Given the description of an element on the screen output the (x, y) to click on. 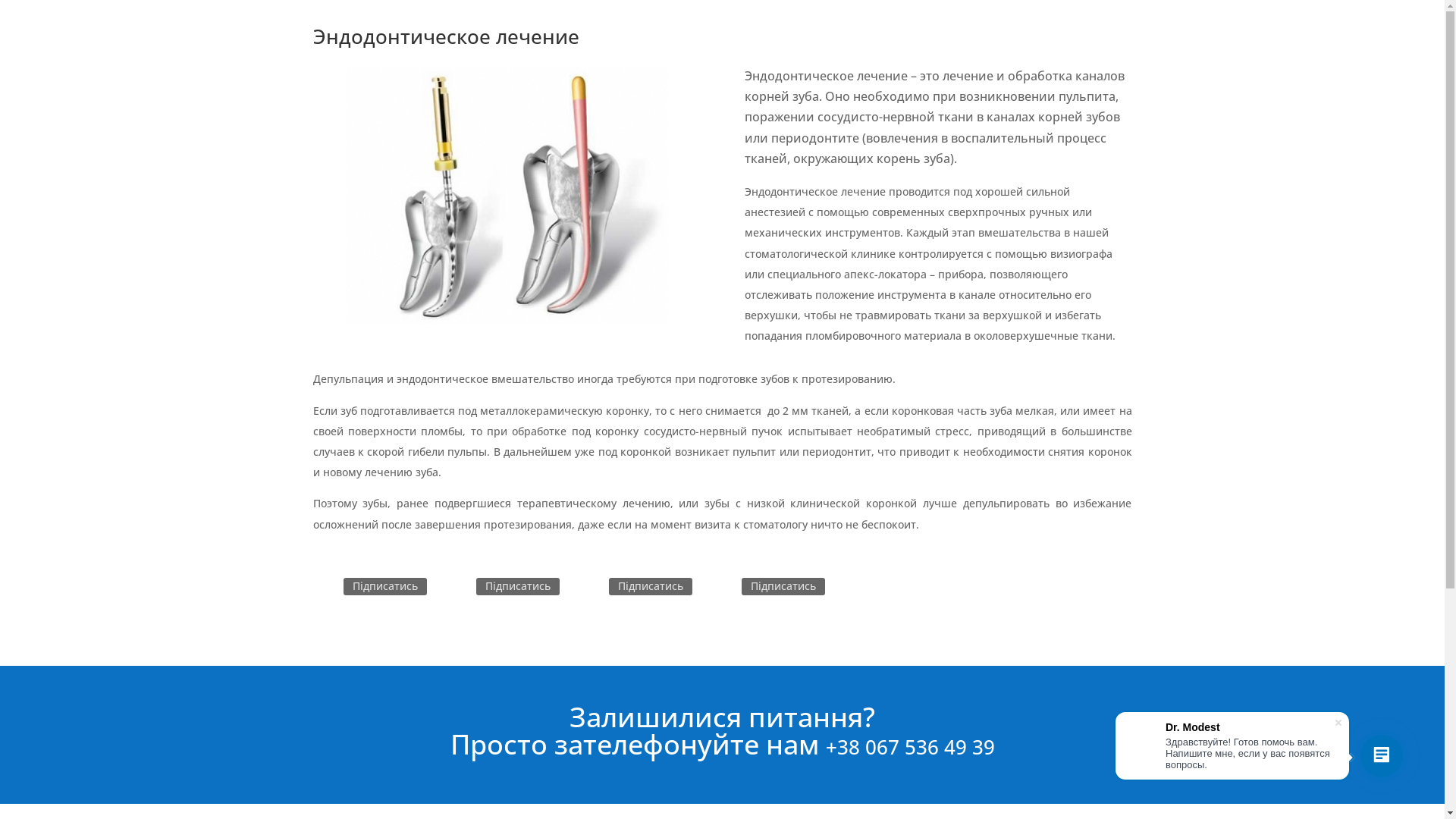
+38  Element type: text (844, 746)
067 536 49 39 Element type: text (929, 746)
